Given the description of an element on the screen output the (x, y) to click on. 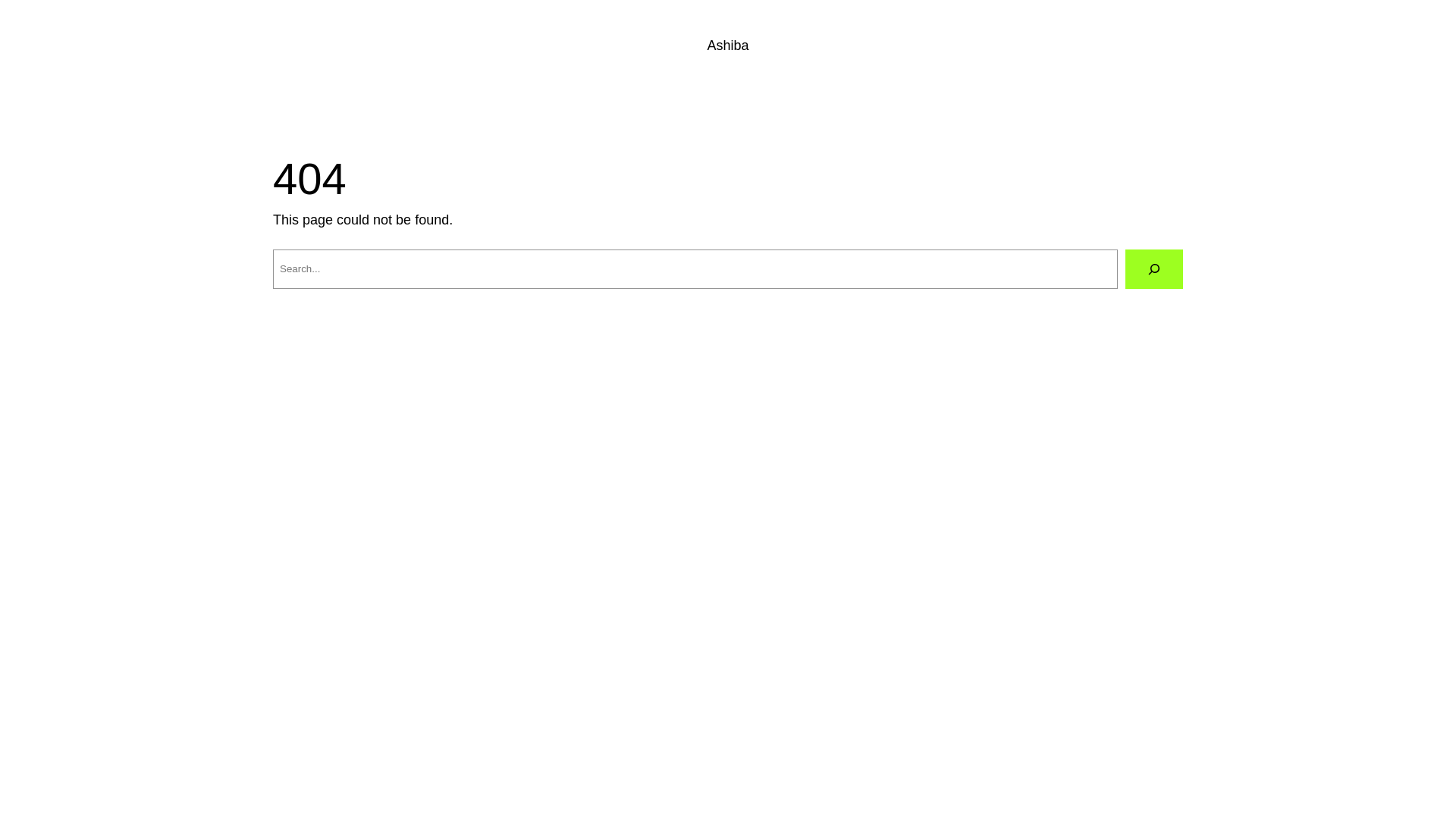
Ashiba Element type: text (727, 45)
